Given the description of an element on the screen output the (x, y) to click on. 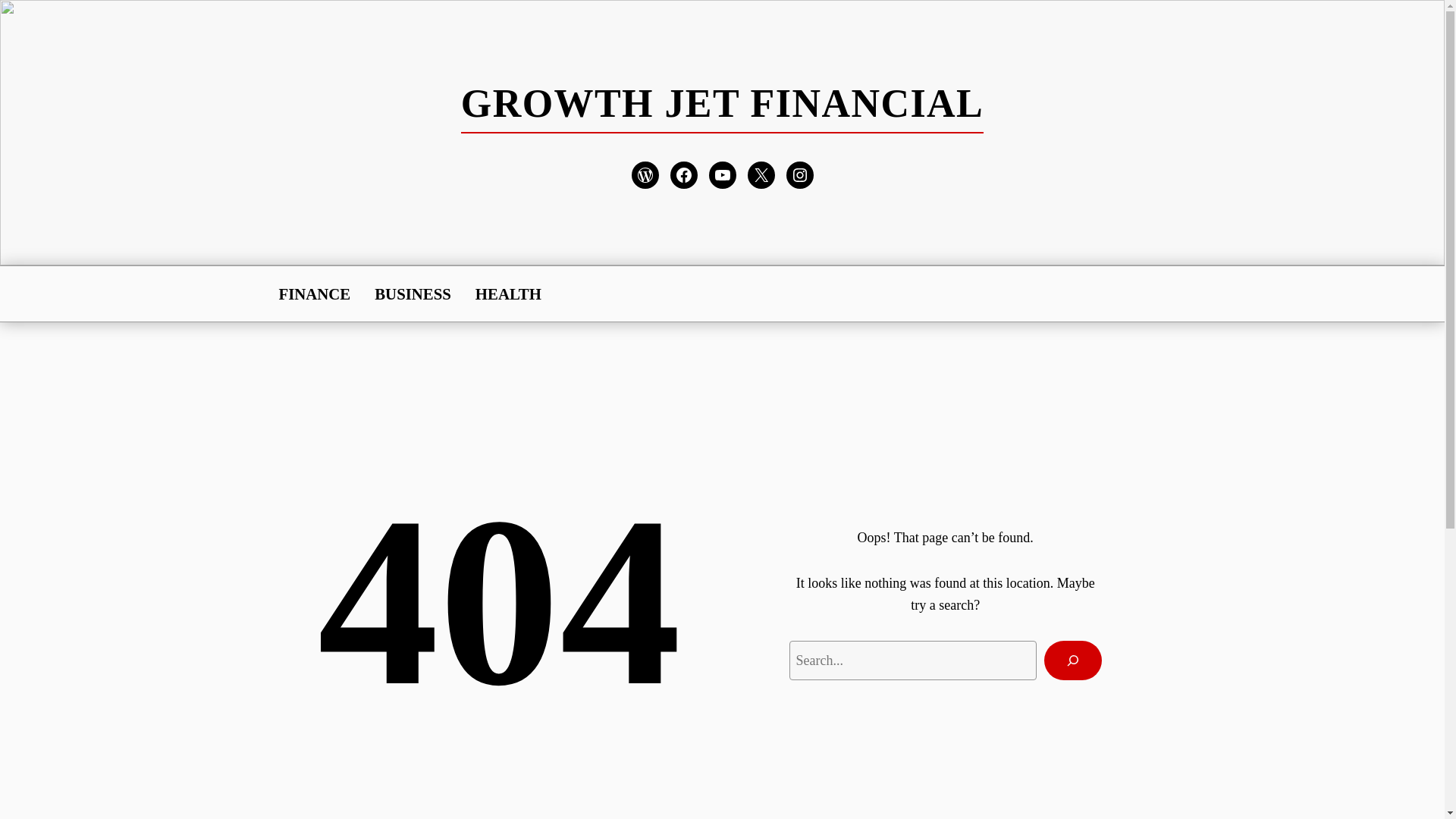
Instagram (799, 175)
X (761, 175)
WordPress (644, 175)
YouTube (721, 175)
FINANCE (314, 293)
BUSINESS (412, 293)
Facebook (683, 175)
GROWTH JET FINANCIAL (722, 103)
HEALTH (508, 293)
